Given the description of an element on the screen output the (x, y) to click on. 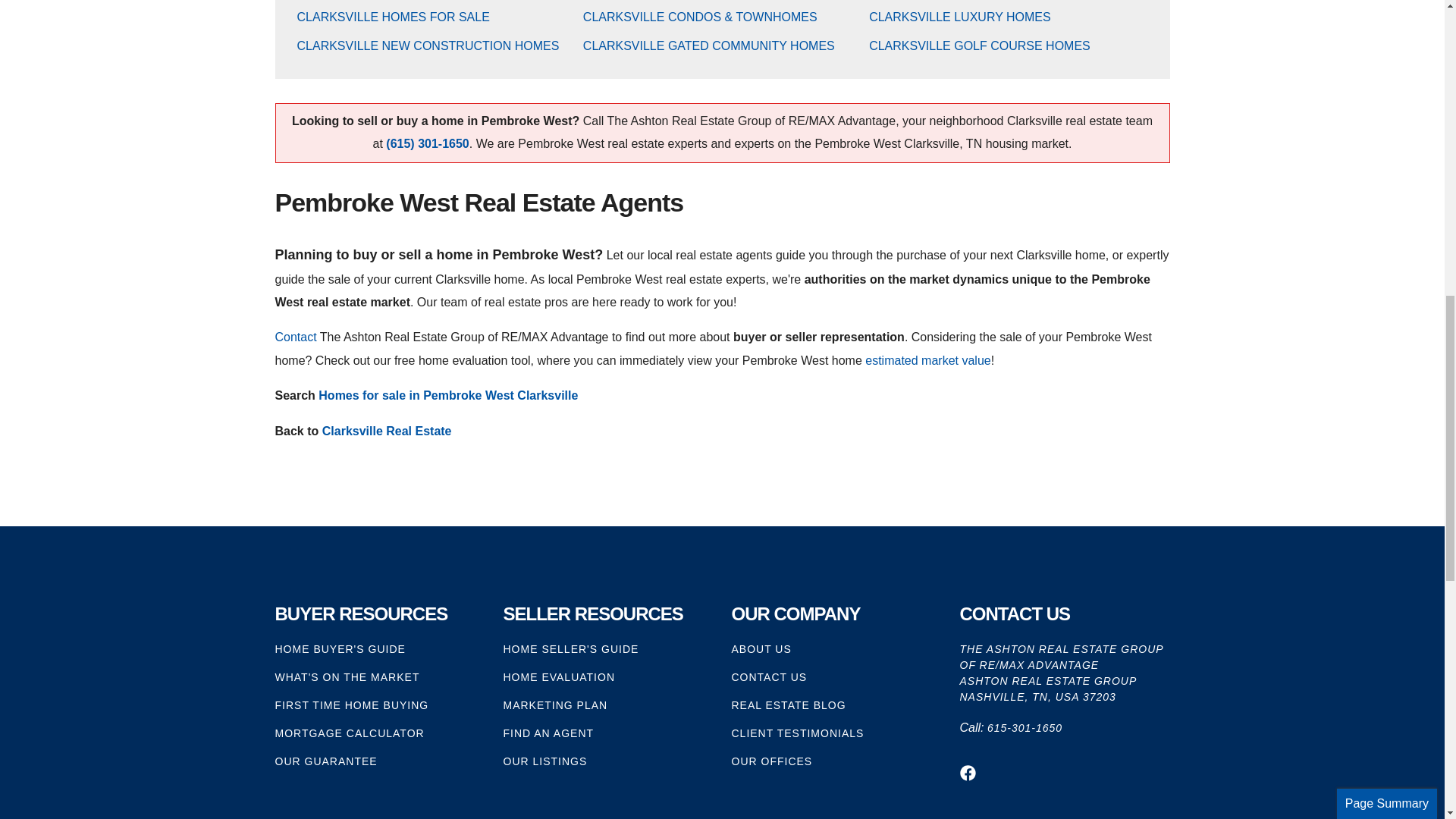
Clarksville Gated Community Homes (708, 45)
Clarksville Golf Course Homes (979, 45)
Clarksville Homes (393, 16)
Contact Us (295, 336)
Clarksville Condos Townhomes (699, 16)
Clarksville Luxury Homes (960, 16)
FACEBOOK (967, 772)
Clarksville New Construction Homes (428, 45)
